Given the description of an element on the screen output the (x, y) to click on. 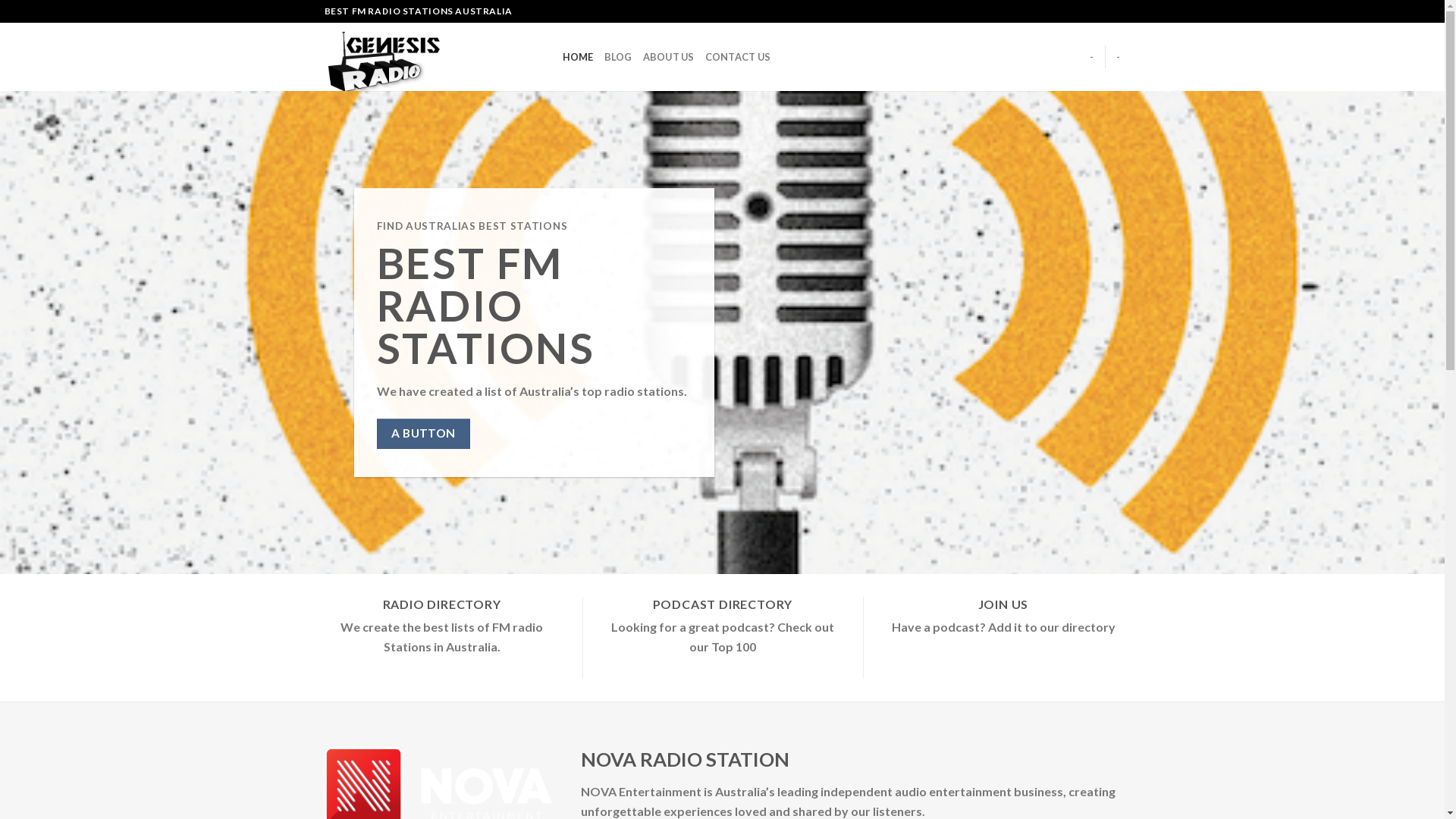
- Element type: text (1091, 56)
ABOUT US Element type: text (668, 56)
Genesis Radio - Australia Element type: hover (431, 56)
A BUTTON Element type: text (423, 433)
CONTACT US Element type: text (738, 56)
HOME Element type: text (577, 56)
BLOG Element type: text (618, 56)
- Element type: text (1118, 56)
